Given the description of an element on the screen output the (x, y) to click on. 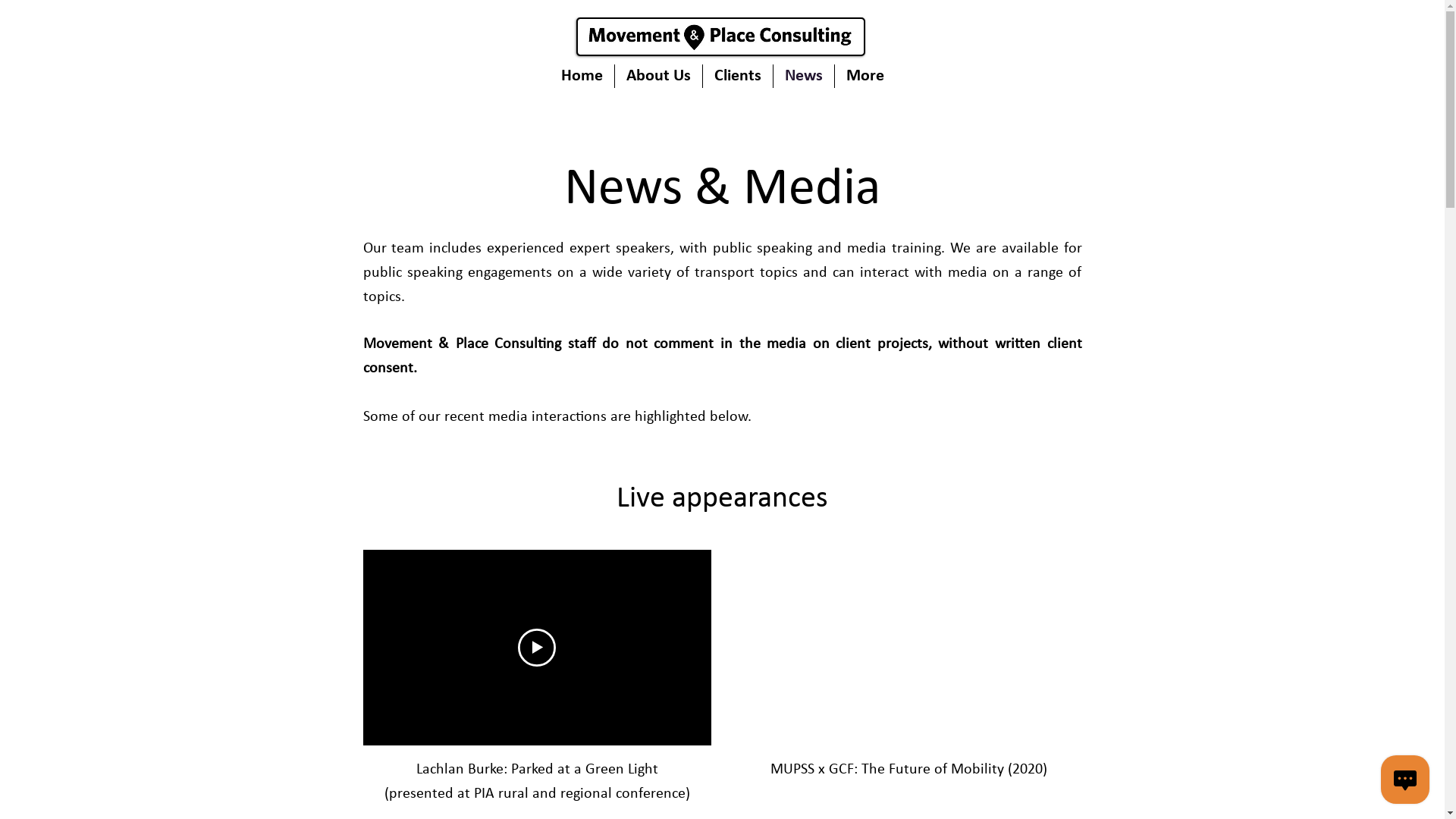
Home Element type: text (581, 75)
News Element type: text (803, 75)
Logo.png Element type: hover (720, 36)
About Us Element type: text (657, 75)
Clients Element type: text (736, 75)
